Given the description of an element on the screen output the (x, y) to click on. 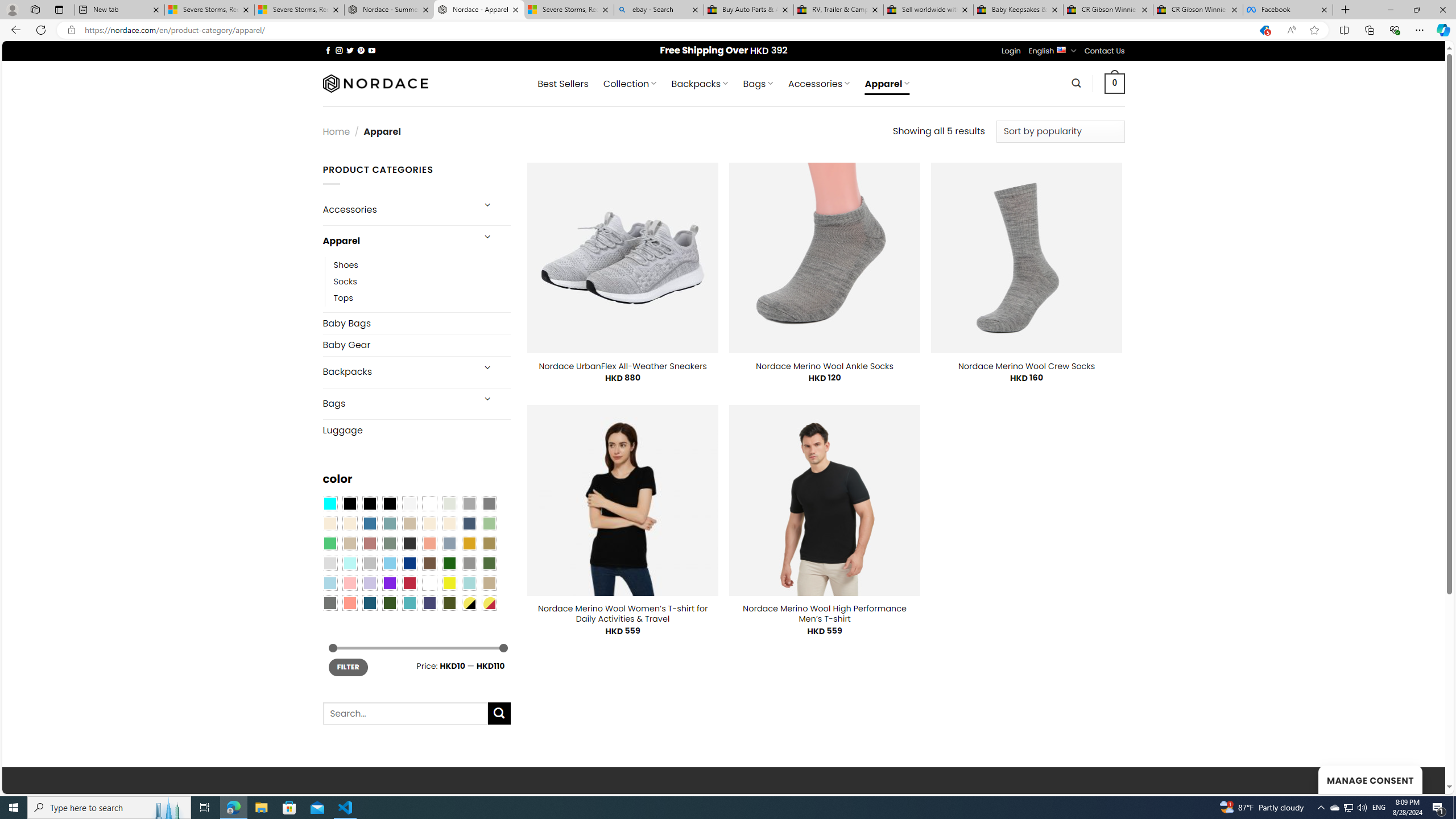
Rose (369, 542)
Green (488, 562)
Nordace Merino Wool Crew Socks (1026, 365)
English (1061, 49)
Baby Gear (416, 345)
MANAGE CONSENT (1369, 779)
Light Purple (369, 582)
Socks (344, 280)
Yellow (449, 582)
Beige-Brown (349, 522)
Peach Pink (349, 602)
Black (369, 503)
